Given the description of an element on the screen output the (x, y) to click on. 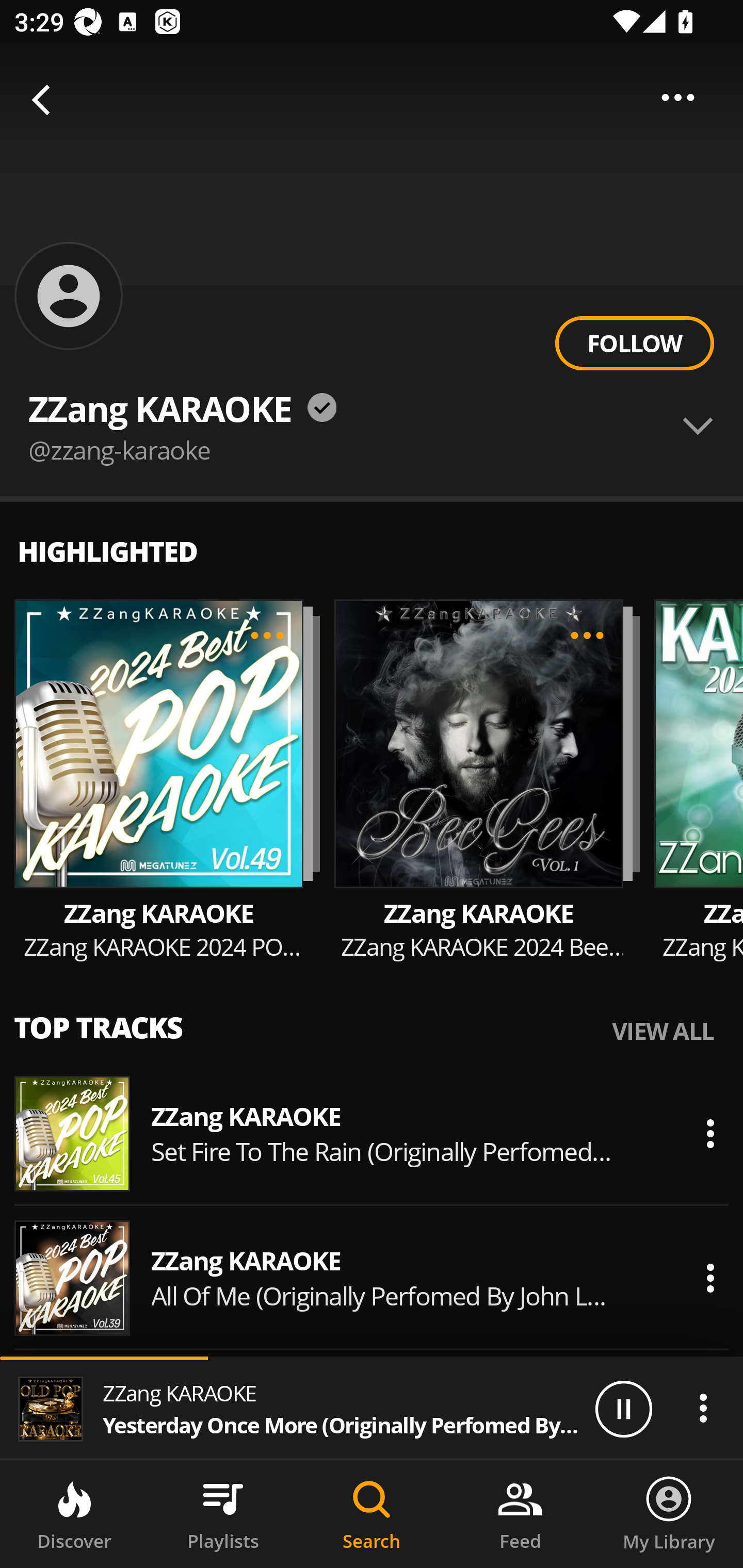
Close (46, 100)
Share (677, 97)
FOLLOW Follow (634, 343)
EDIT HIGHLIGHTS (267, 634)
EDIT HIGHLIGHTS (587, 634)
VIEW ALL (663, 1030)
Actions (710, 1133)
Actions (710, 1277)
Actions (703, 1407)
Play/Pause (623, 1408)
Discover (74, 1513)
Playlists (222, 1513)
Search (371, 1513)
Feed (519, 1513)
My Library (668, 1513)
